Given the description of an element on the screen output the (x, y) to click on. 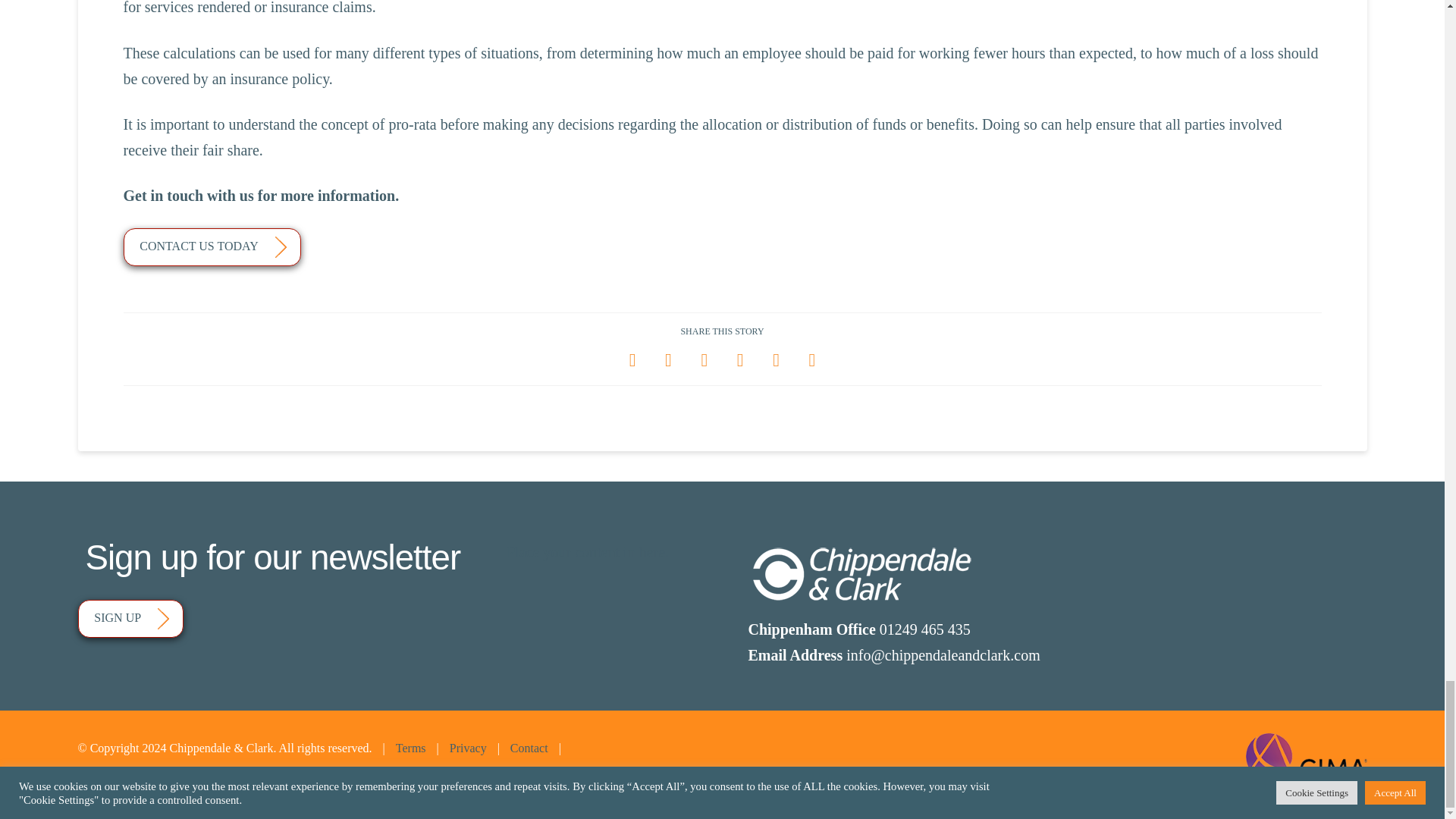
Newsletter Sign-up (130, 618)
Contact us today (210, 247)
i23 Design (140, 779)
